Given the description of an element on the screen output the (x, y) to click on. 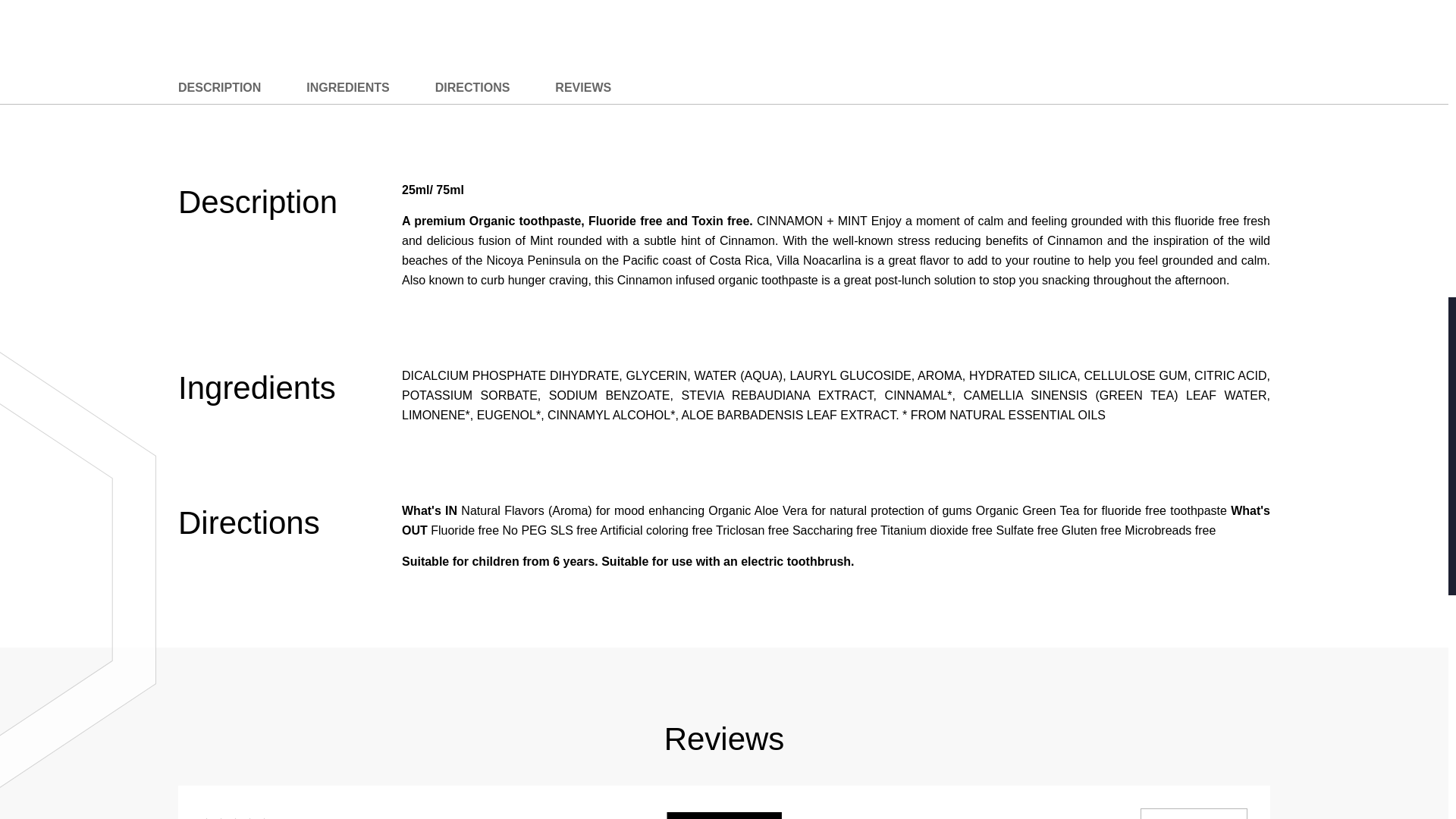
REVIEWS (582, 88)
